Given the description of an element on the screen output the (x, y) to click on. 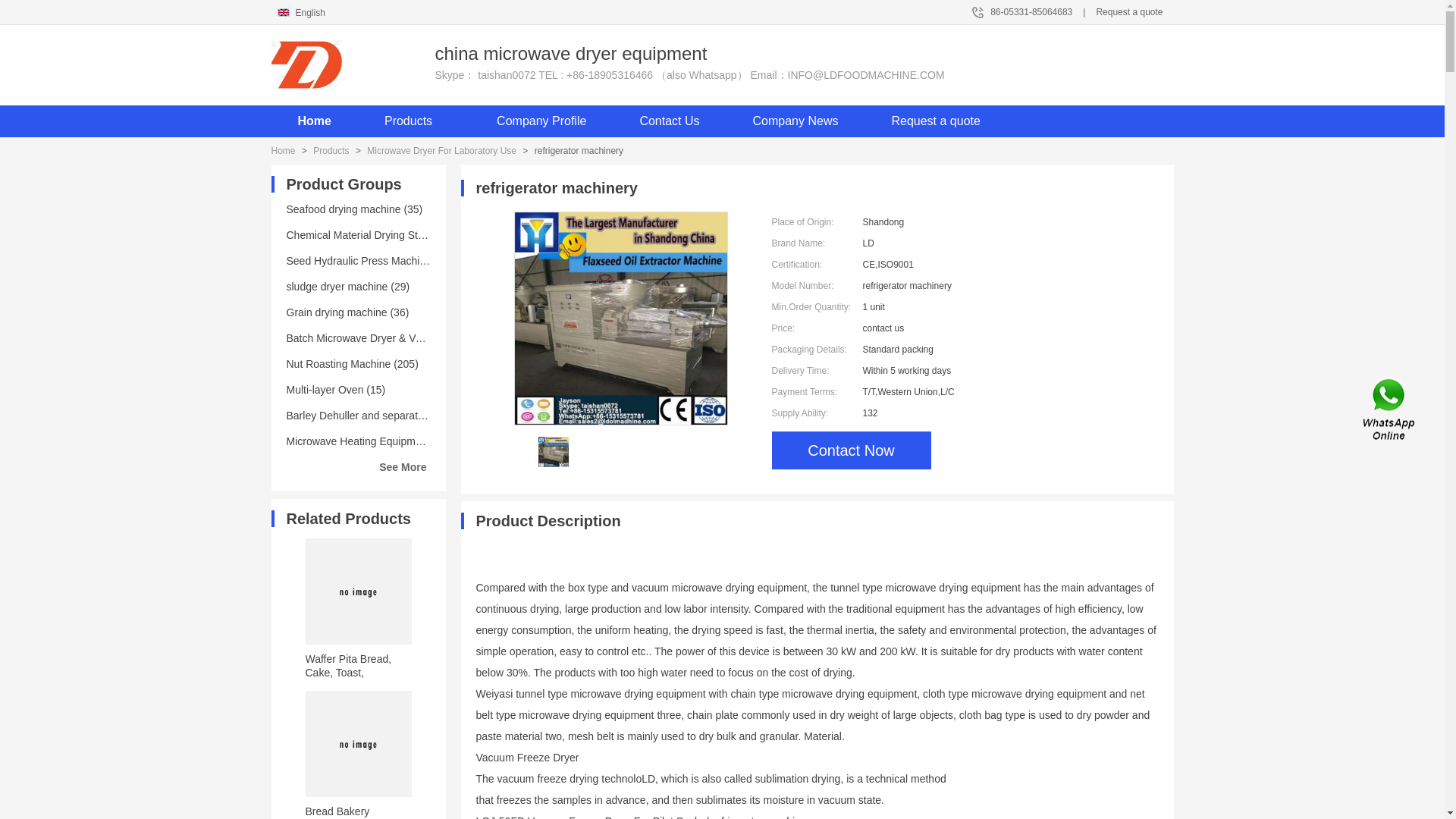
Products (414, 121)
Chemical Material Drying Sterilization Equipment (415, 234)
Microwave Heating Equipment (375, 440)
Multi-layer Oven (335, 389)
Grain drying machine (347, 312)
Request a quote (1128, 11)
Home (314, 121)
sludge dryer machine (348, 286)
Barley Dehuller and separating equipment (402, 415)
Seed Hydraulic Press Machine (375, 260)
Seafood drying machine (354, 209)
china microwave dryer equipment (349, 65)
Nut Roasting Machine (352, 363)
